Given the description of an element on the screen output the (x, y) to click on. 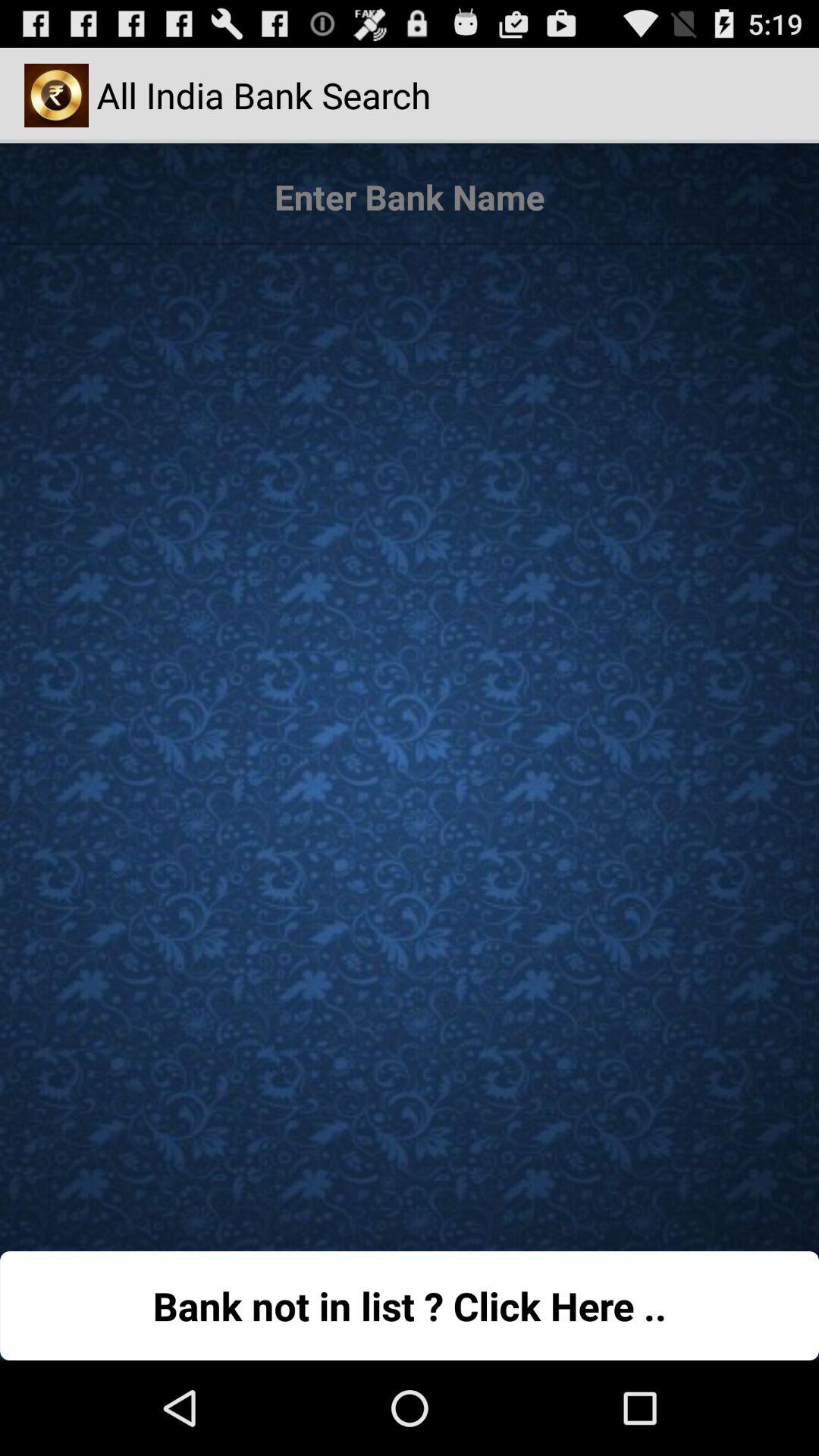
tap button above the bank not in (409, 740)
